Given the description of an element on the screen output the (x, y) to click on. 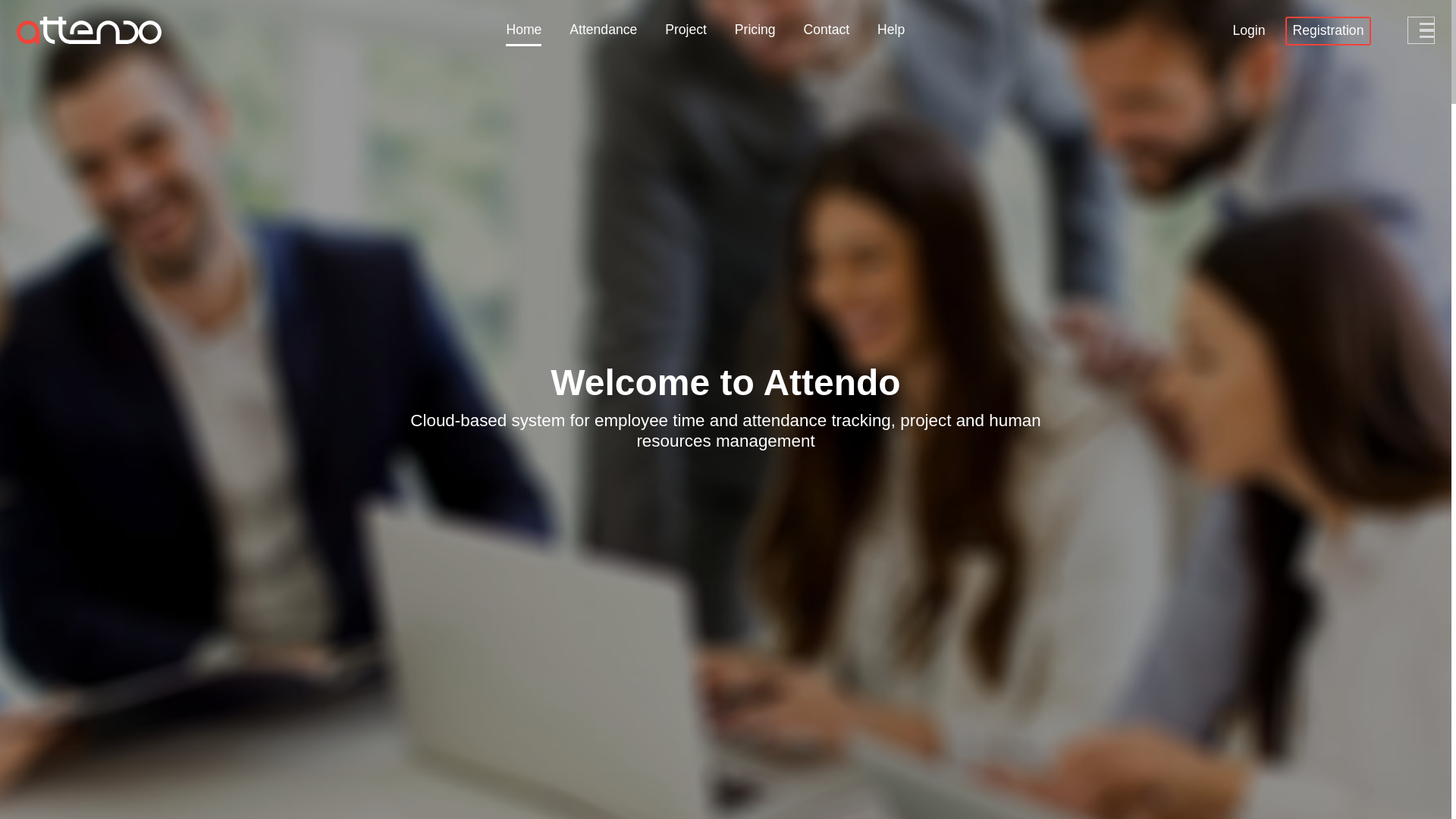
Home Element type: text (523, 29)
Project Element type: text (685, 29)
Registration Element type: text (1328, 30)
Pricing Element type: text (754, 29)
Contact Element type: text (826, 29)
Login Element type: text (1248, 30)
Attendance Element type: text (603, 29)
Help Element type: text (890, 29)
